Given the description of an element on the screen output the (x, y) to click on. 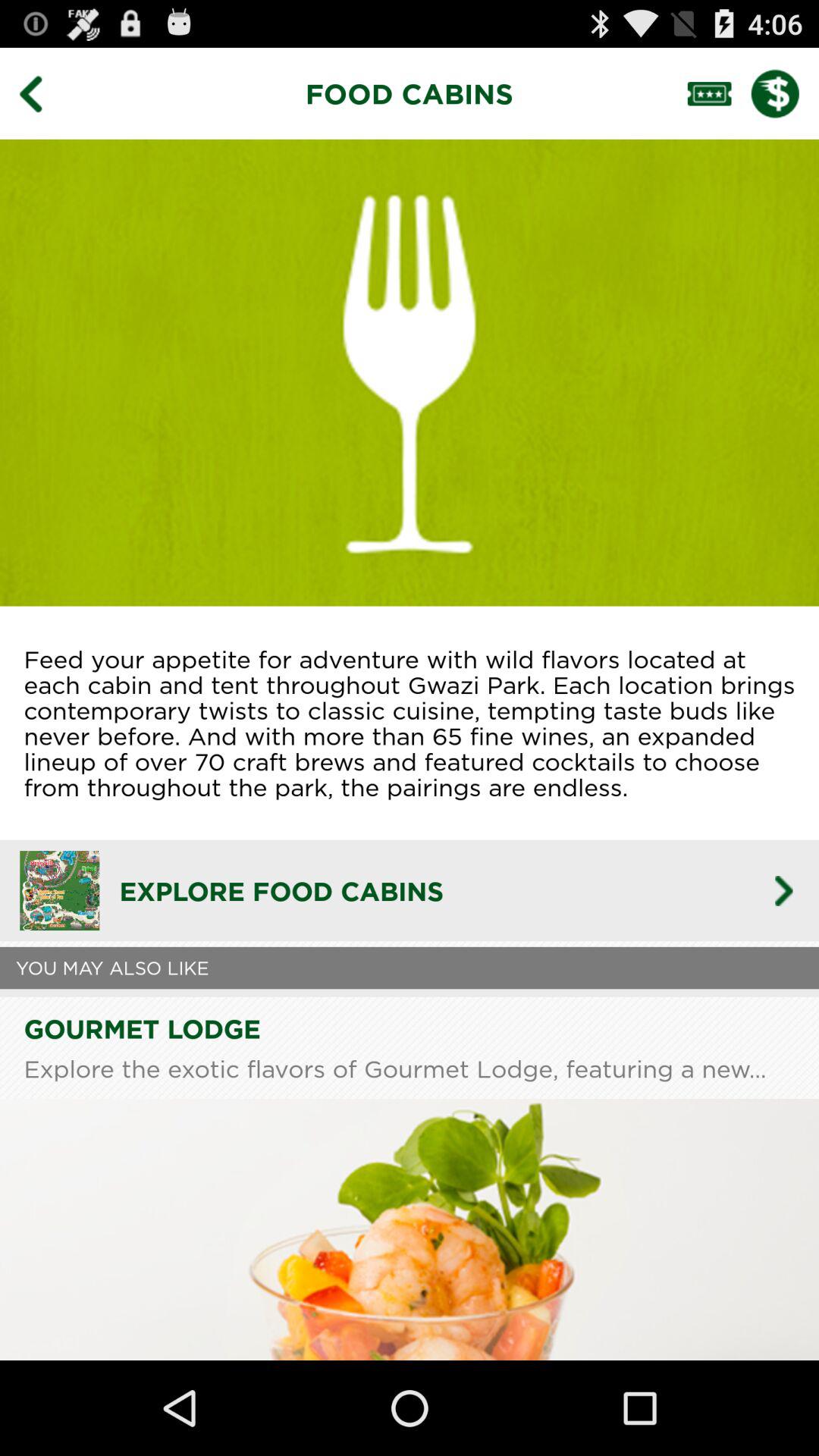
show prices (785, 93)
